Given the description of an element on the screen output the (x, y) to click on. 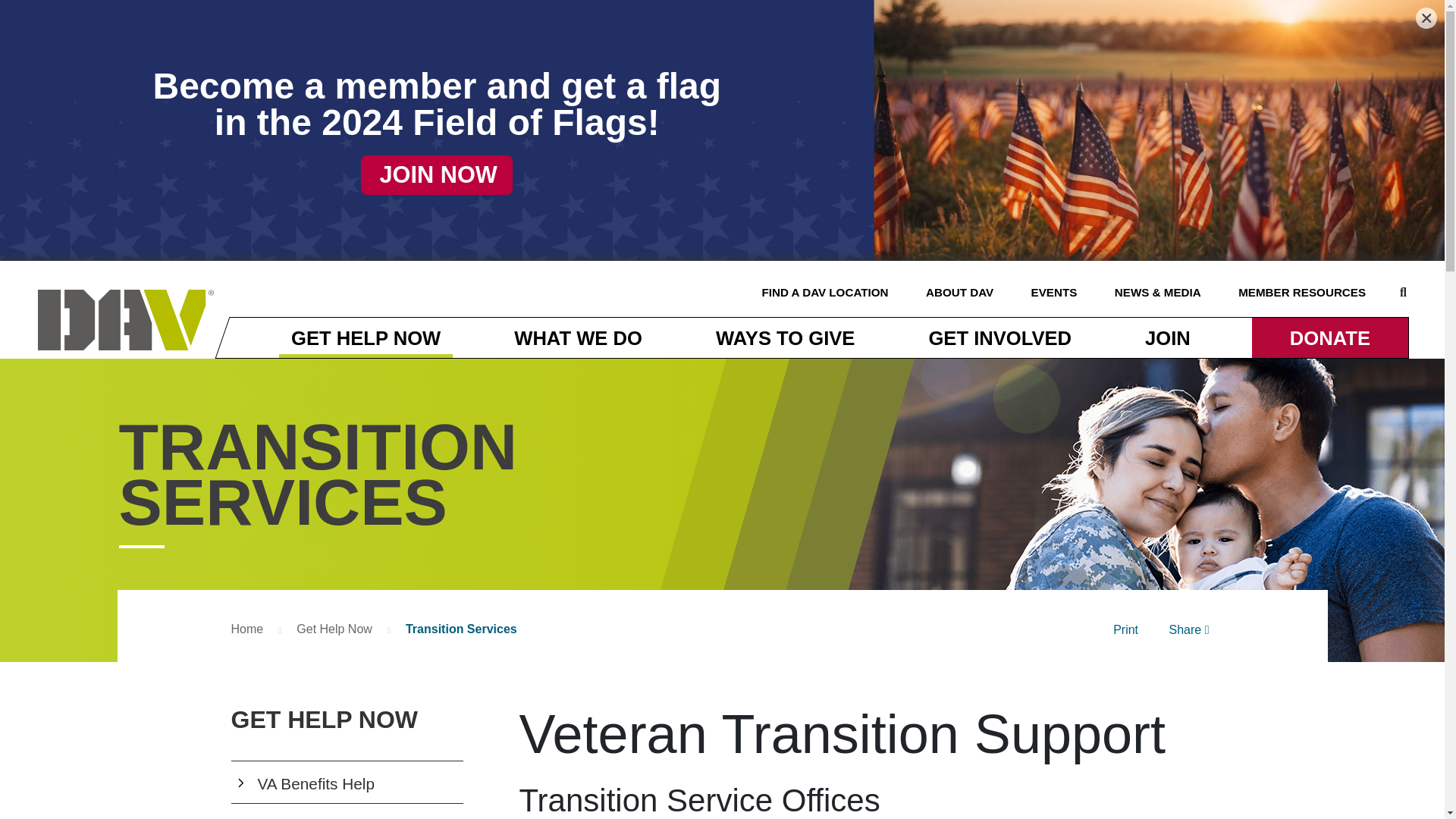
JOIN NOW (436, 174)
FIND A DAV LOCATION (824, 291)
GET HELP NOW (365, 337)
ABOUT DAV (959, 291)
WHAT WE DO (577, 337)
Get Help Now (365, 337)
MEMBER RESOURCES (1302, 291)
What We Do (577, 337)
EVENTS (1053, 291)
Ways to Give (784, 337)
